Given the description of an element on the screen output the (x, y) to click on. 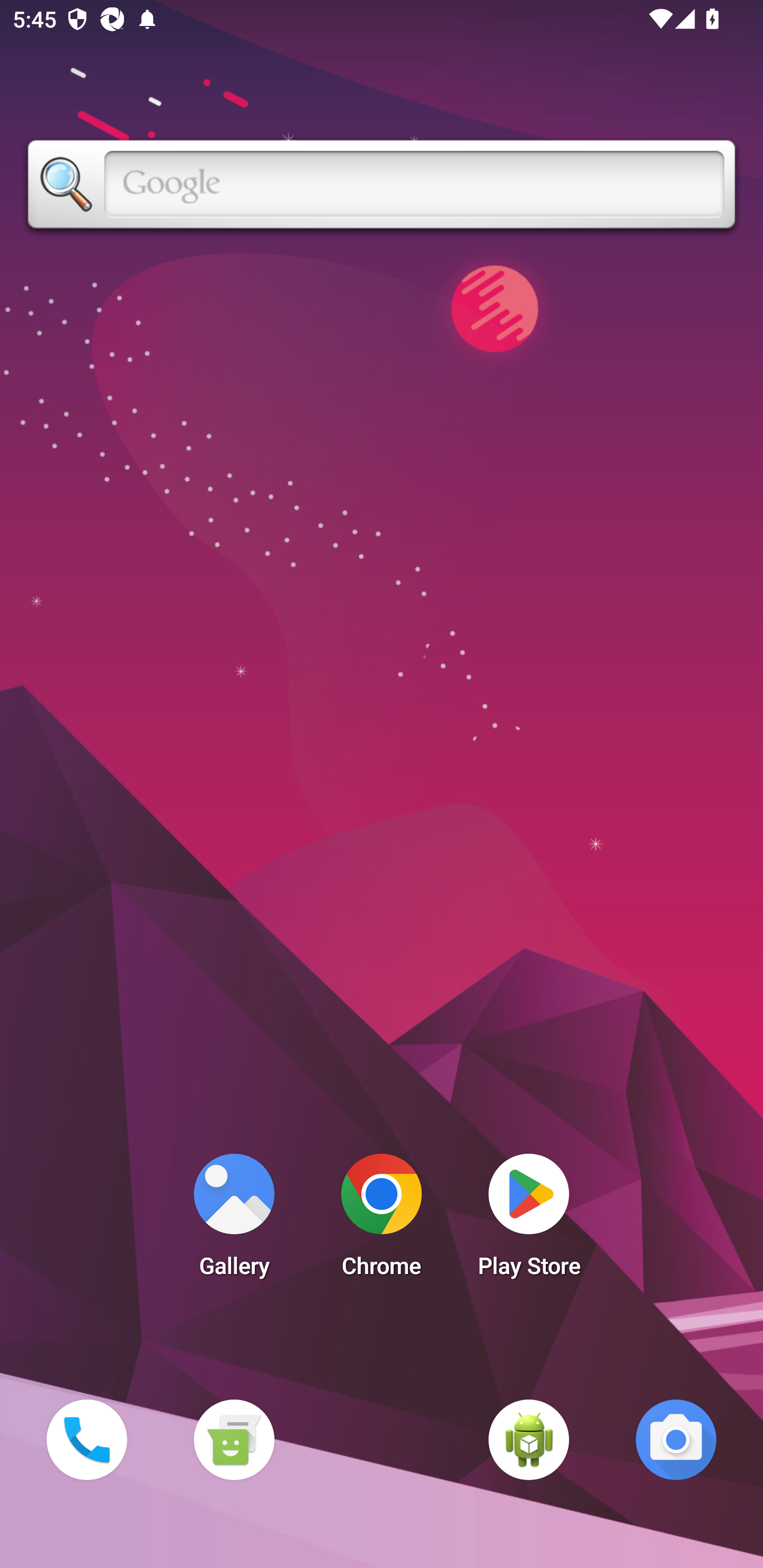
Gallery (233, 1220)
Chrome (381, 1220)
Play Store (528, 1220)
Phone (86, 1439)
Messaging (233, 1439)
WebView Browser Tester (528, 1439)
Camera (676, 1439)
